Given the description of an element on the screen output the (x, y) to click on. 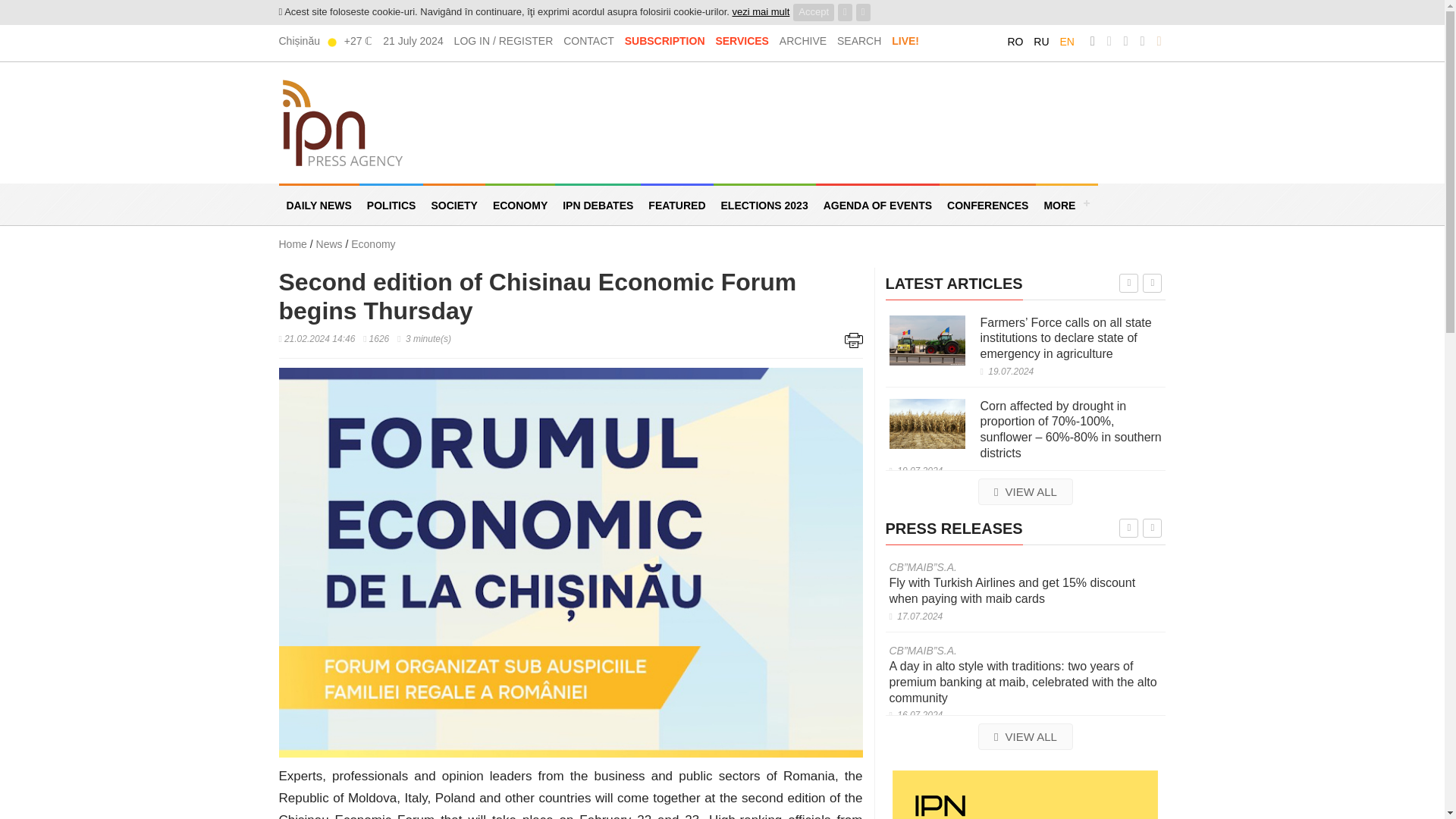
SOCIETY (453, 204)
RU (1040, 41)
POLITICS (391, 204)
Reading time (424, 338)
Accept (813, 12)
DAILY NEWS (319, 204)
vezi mai mult (760, 11)
ELECTIONS 2023 (764, 204)
RO (1015, 41)
youtube (1142, 41)
twitter (1109, 41)
FEATURED (676, 204)
EN (1066, 41)
SEARCH (858, 41)
News (330, 244)
